Given the description of an element on the screen output the (x, y) to click on. 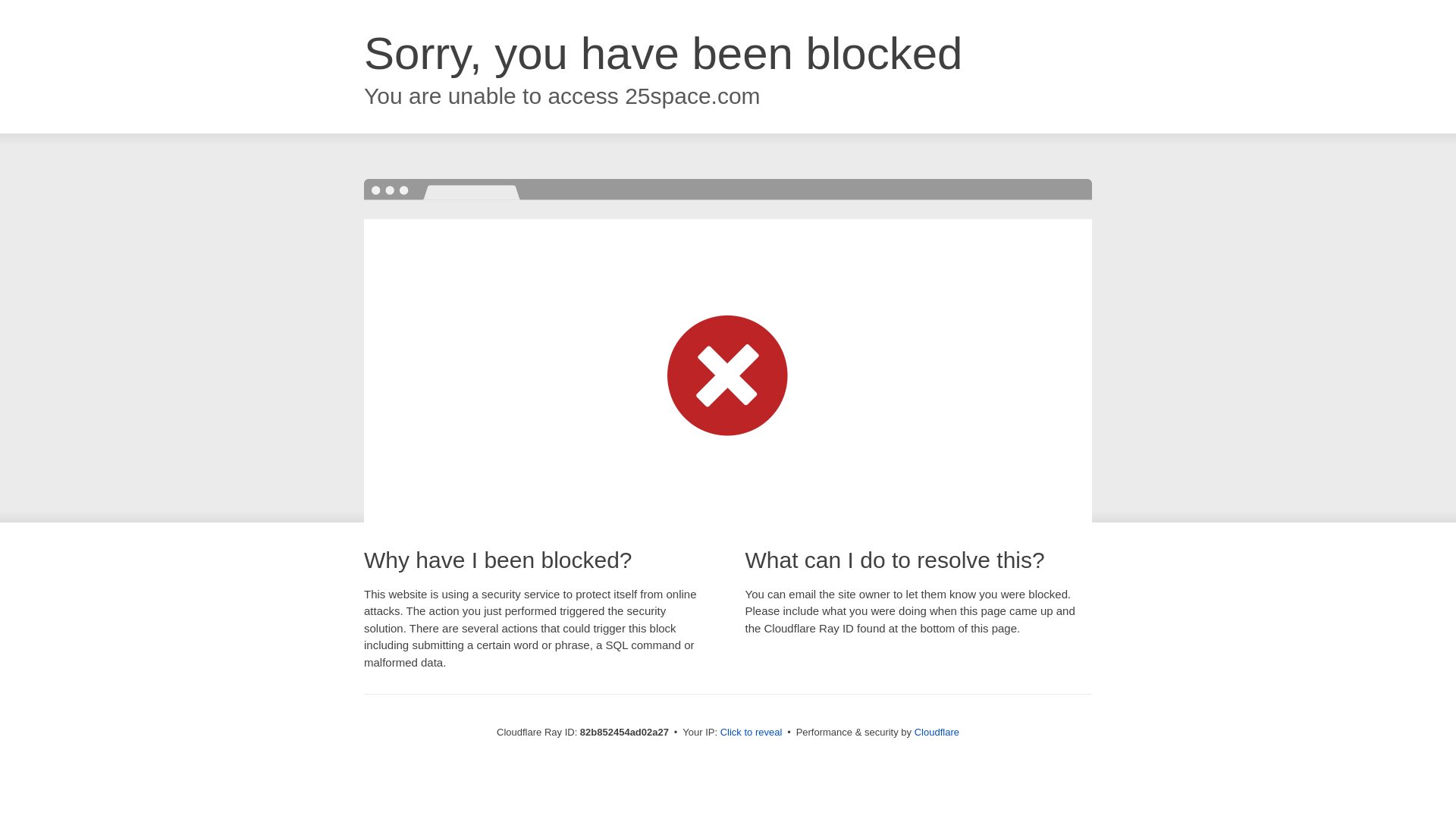
Cloudflare Element type: text (936, 731)
Click to reveal Element type: text (751, 732)
